Given the description of an element on the screen output the (x, y) to click on. 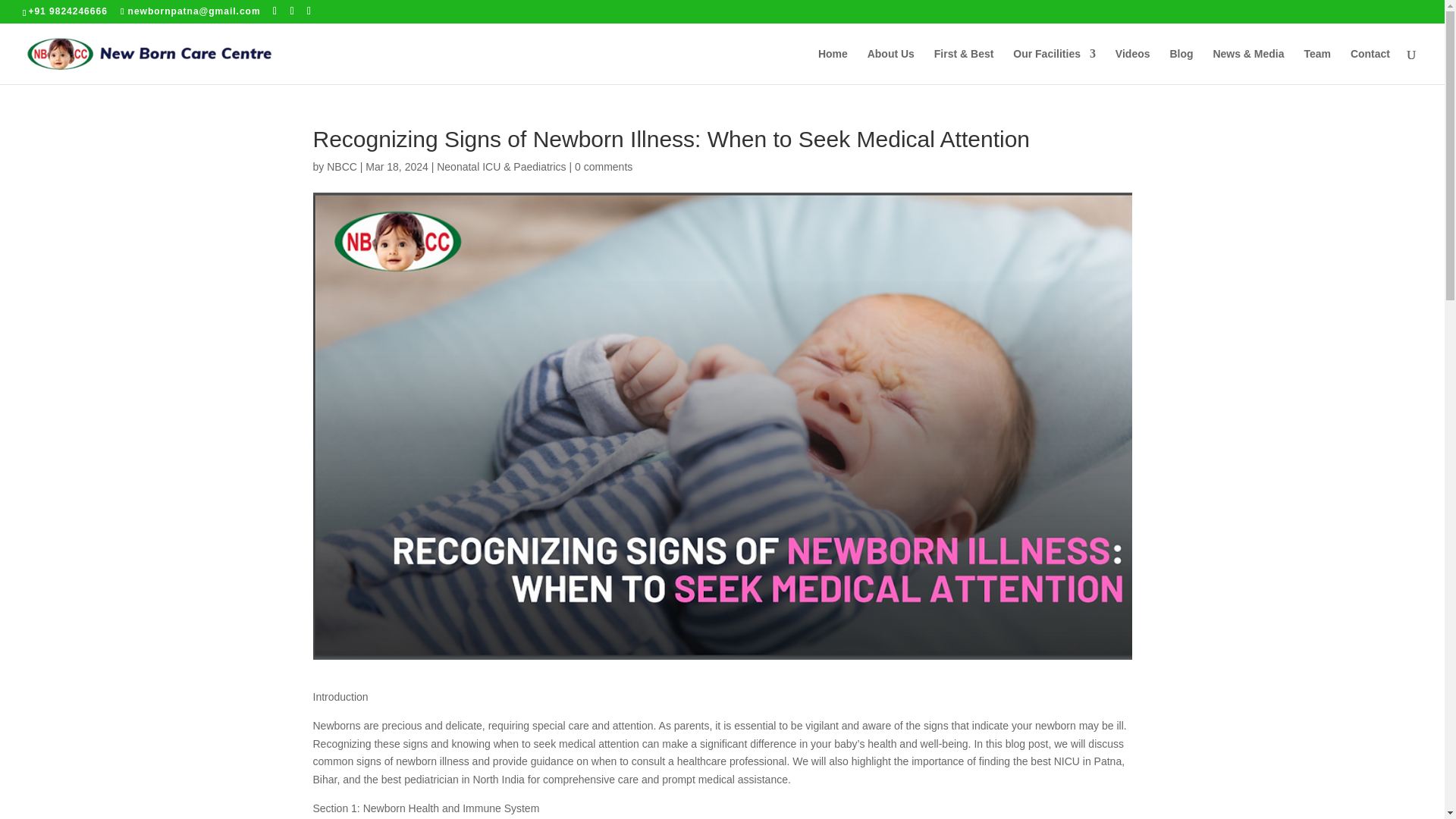
0 comments (603, 166)
Posts by NBCC (341, 166)
Videos (1132, 66)
Our Facilities (1054, 66)
Contact (1370, 66)
About Us (890, 66)
NBCC (341, 166)
